Given the description of an element on the screen output the (x, y) to click on. 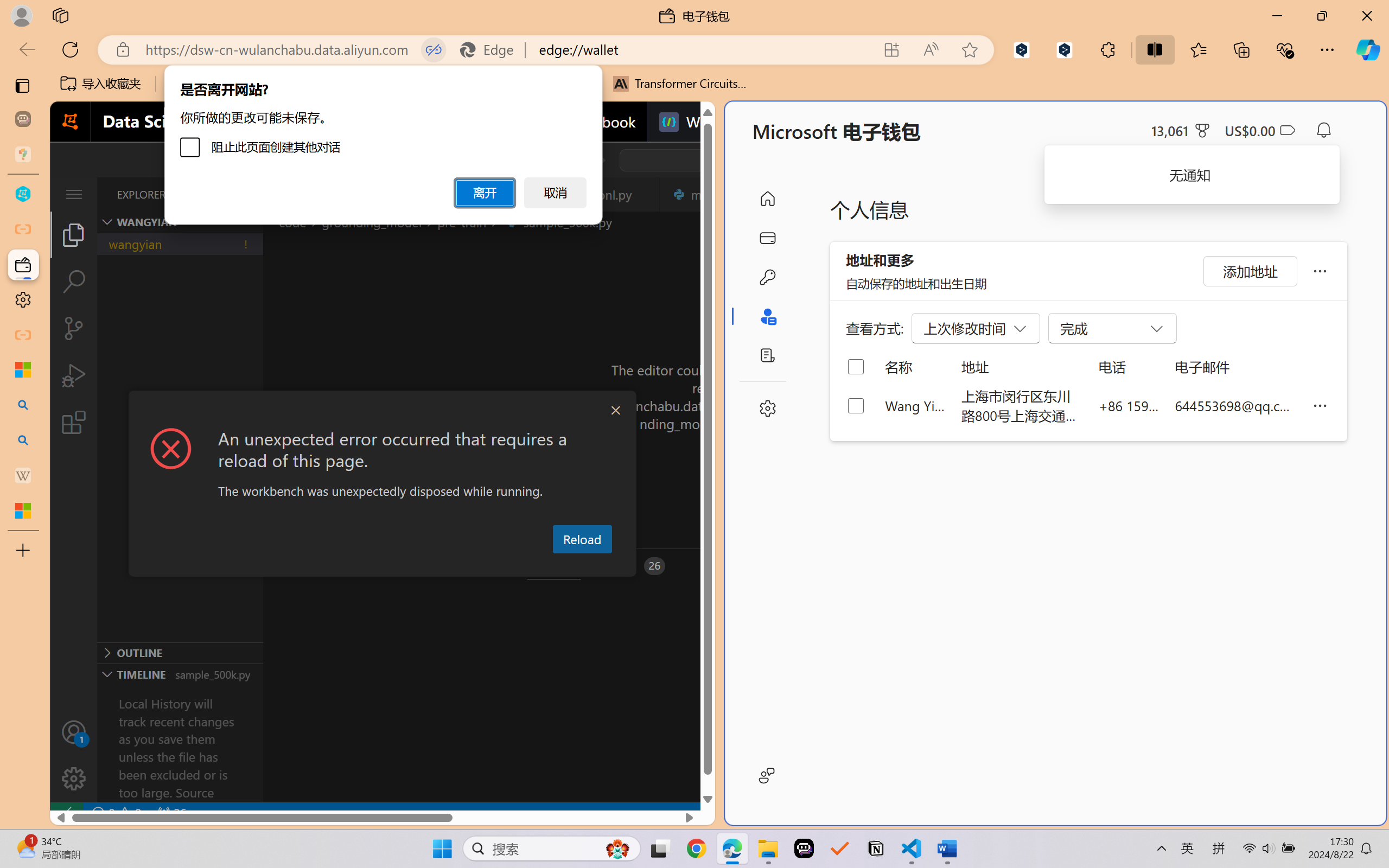
wangyian_dsw - DSW (22, 194)
Google Chrome (696, 848)
Timeline Section (179, 673)
